Given the description of an element on the screen output the (x, y) to click on. 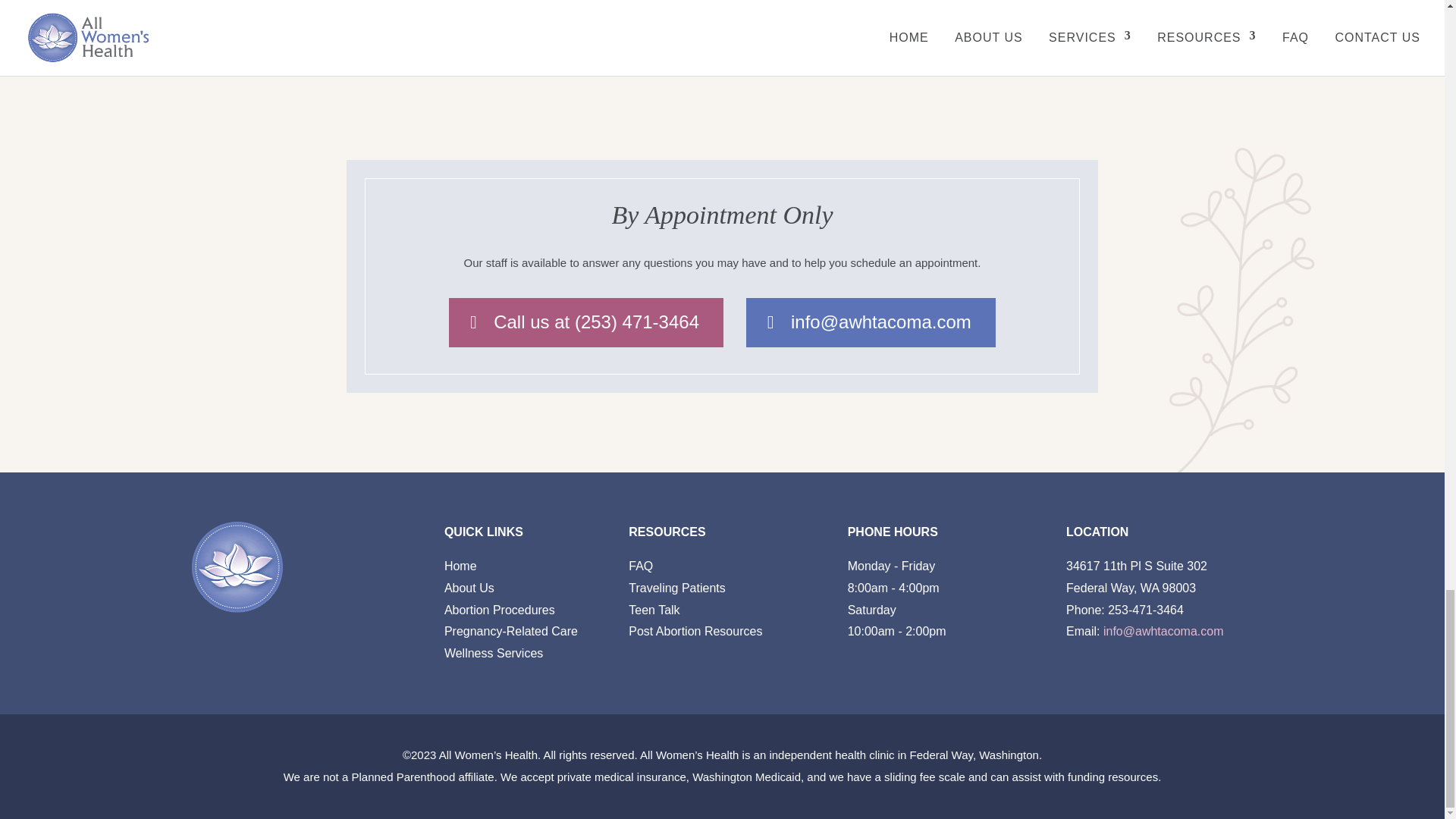
abortioncarenetwork-logo (893, 27)
Home (460, 565)
NAF-logo (550, 27)
logo-mark-footer (236, 566)
